Given the description of an element on the screen output the (x, y) to click on. 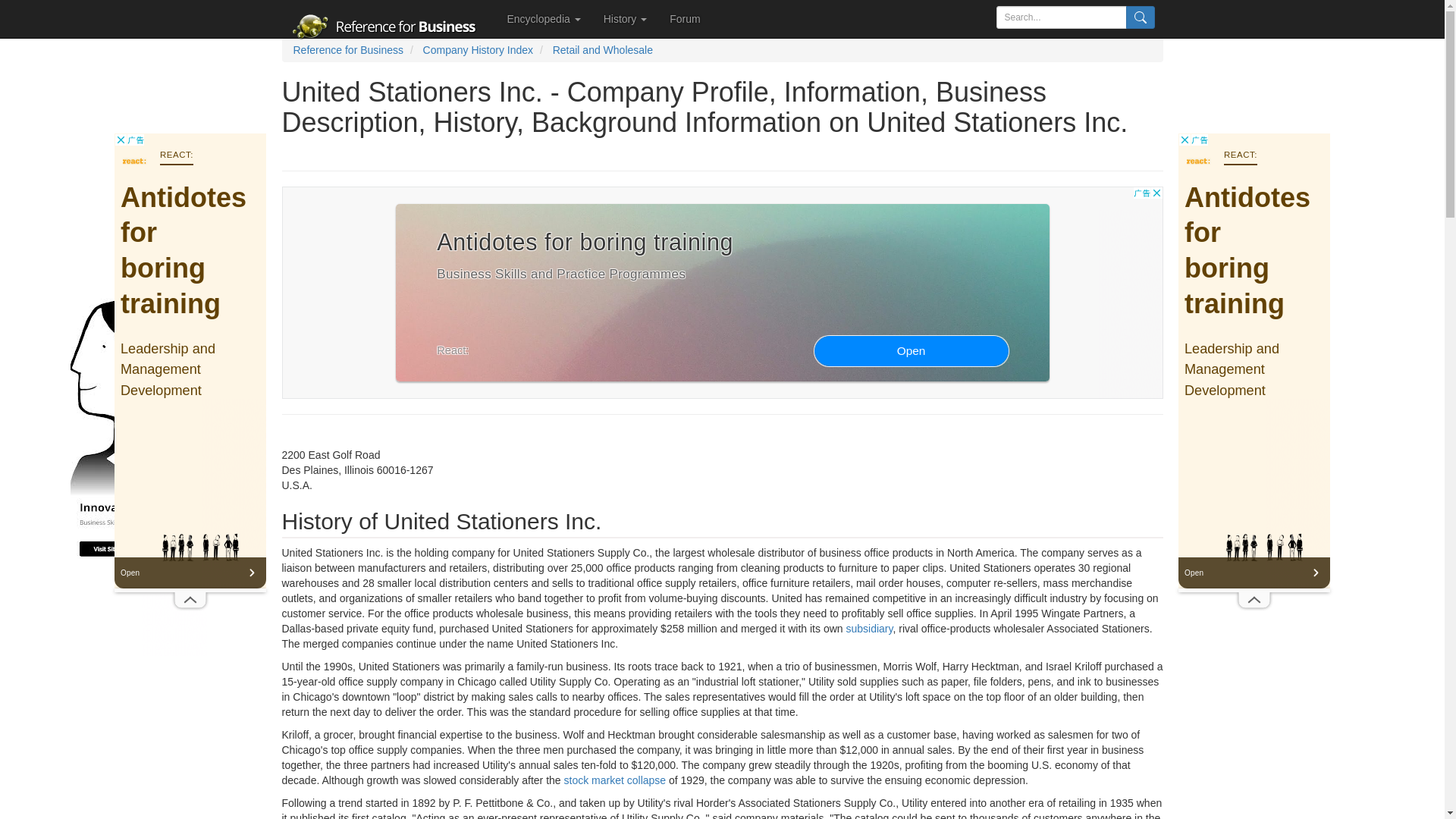
View 'stock market collapse' definition from Wikipedia (615, 779)
Advertisement (1253, 360)
Advertisement (190, 360)
Forum (684, 18)
History (625, 18)
stock market collapse (615, 779)
Encyclopedia (544, 18)
subsidiary (868, 628)
Company History Index (478, 50)
View 'subsidiary' definition from Wikipedia (868, 628)
Retail and Wholesale (602, 50)
Advertisement (137, 428)
Reference for Business (347, 50)
